Given the description of an element on the screen output the (x, y) to click on. 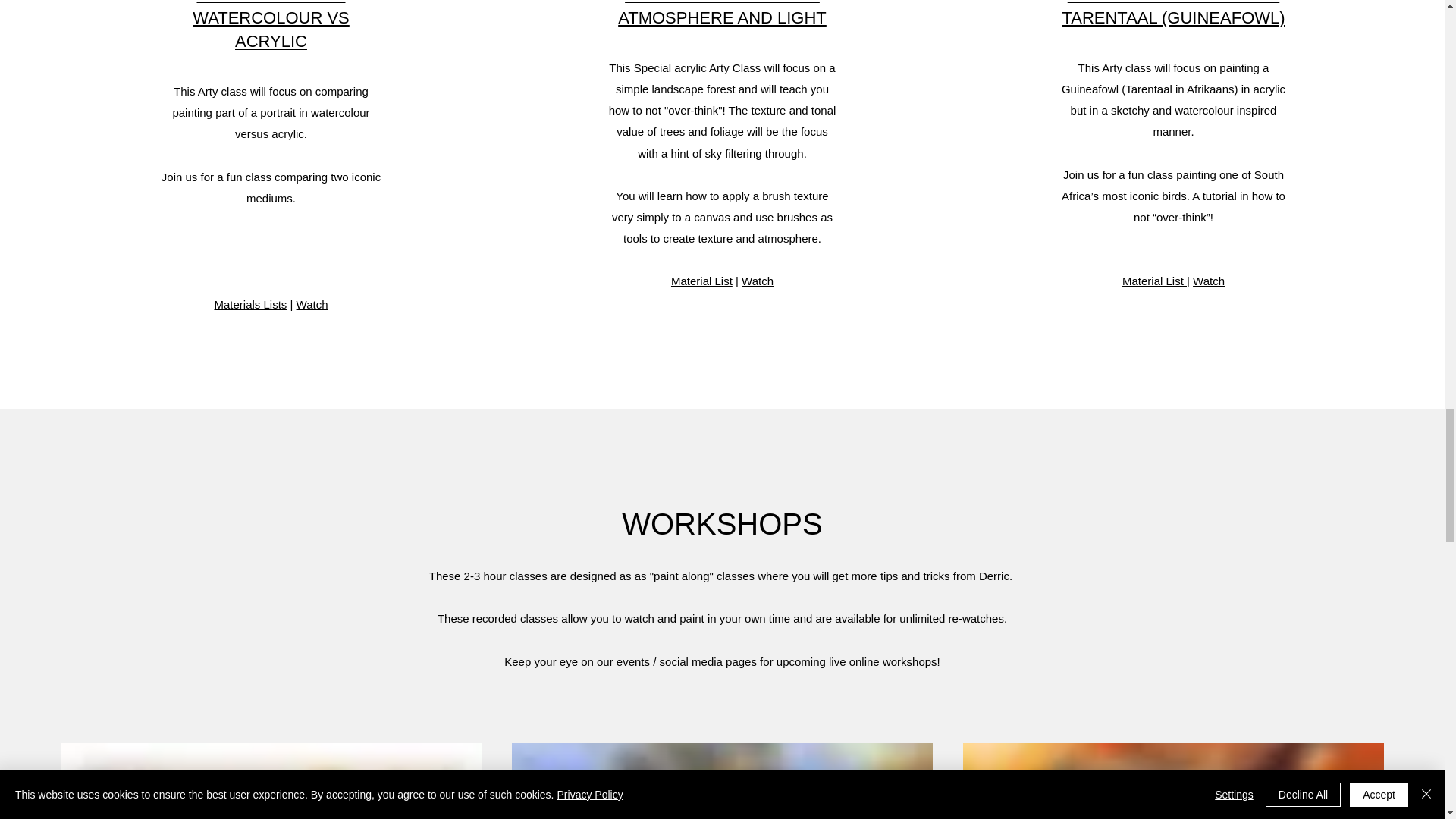
Material List (1154, 280)
Watch (757, 280)
EXPLORING A FORESTS ATMOSPHERE AND LIGHT (722, 13)
Material List (701, 280)
PORTRAIT STUDY: WATERCOLOUR VS ACRYLIC (270, 25)
Watch (1208, 280)
Watch (313, 304)
